Given the description of an element on the screen output the (x, y) to click on. 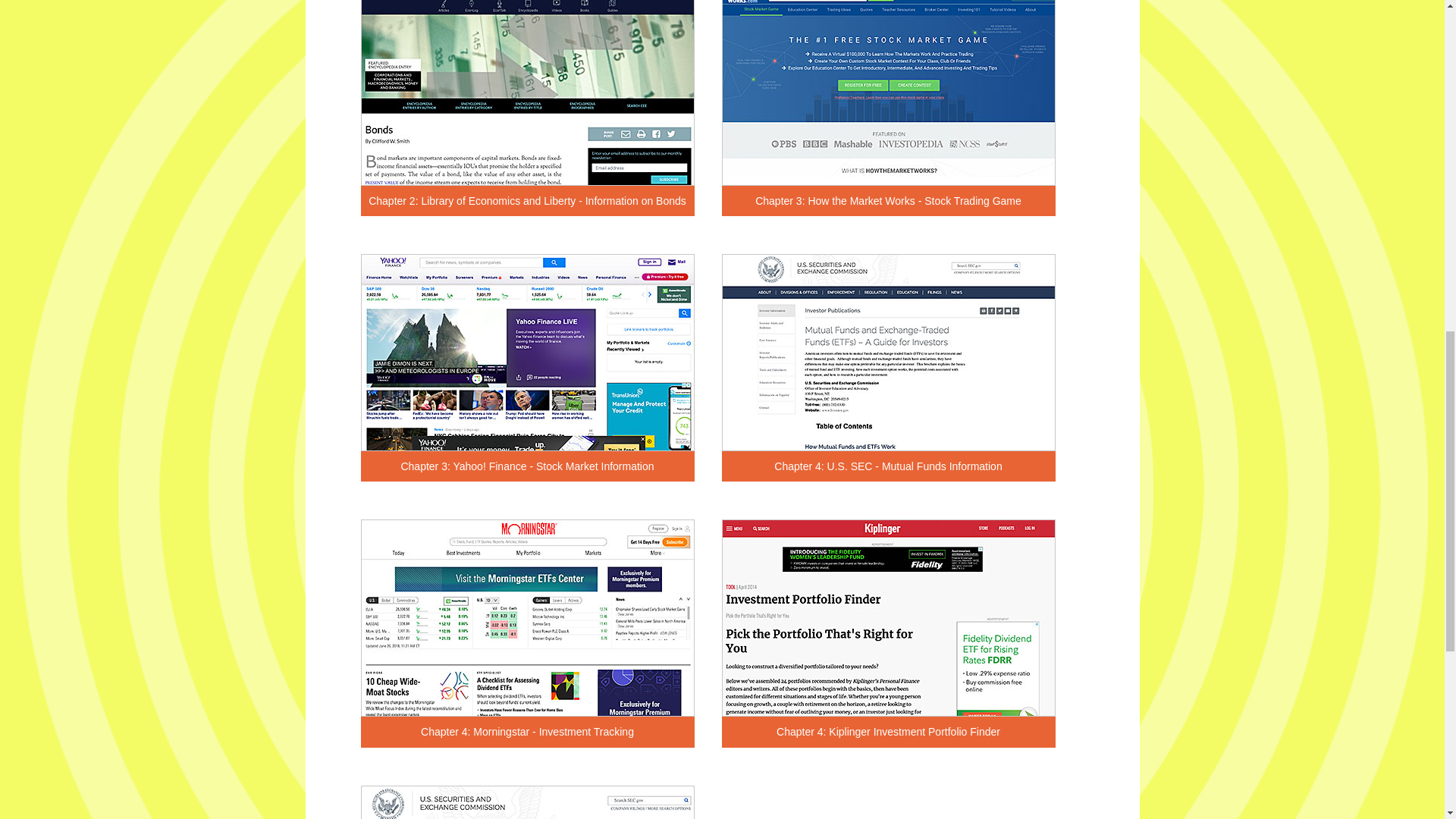
Chapter 4: Morningstar - Investment Tracking (527, 731)
Chapter 3: Yahoo! Finance - Stock Market Information (527, 466)
Chapter 3: How the Market Works - Stock Trading Game (888, 200)
Chapter 4: U.S. SEC - Mutual Funds Information (888, 466)
Chapter 4: Kiplinger Investment Portfolio Finder (888, 731)
